Given the description of an element on the screen output the (x, y) to click on. 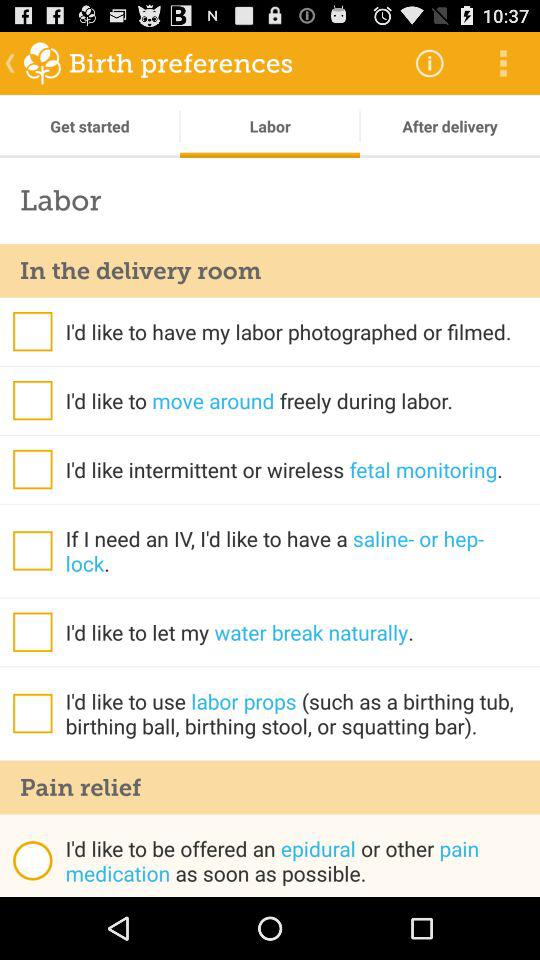
turn on the app next to labor item (90, 125)
